Given the description of an element on the screen output the (x, y) to click on. 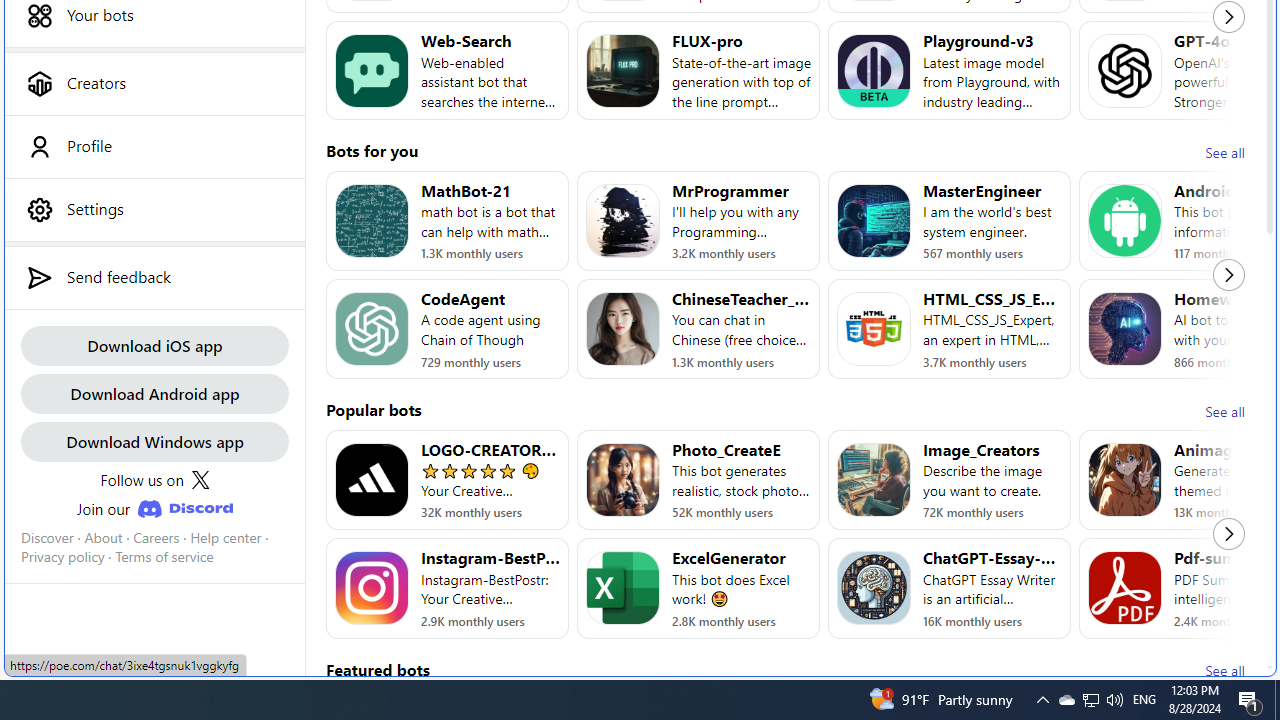
Class: JoinDiscordLink_discordIcon__Xw13A (184, 509)
Bot image for MathBot-21 (371, 220)
Help center (225, 537)
Download Windows app (154, 441)
Follow us on (154, 479)
Bot image for Photo_CreateE (623, 480)
Bot image for MasterEngineer (874, 220)
Class: FollowTwitterLink_twitterIconBlack__SS_7V (199, 480)
Bot image for CodeAgent (371, 329)
